Given the description of an element on the screen output the (x, y) to click on. 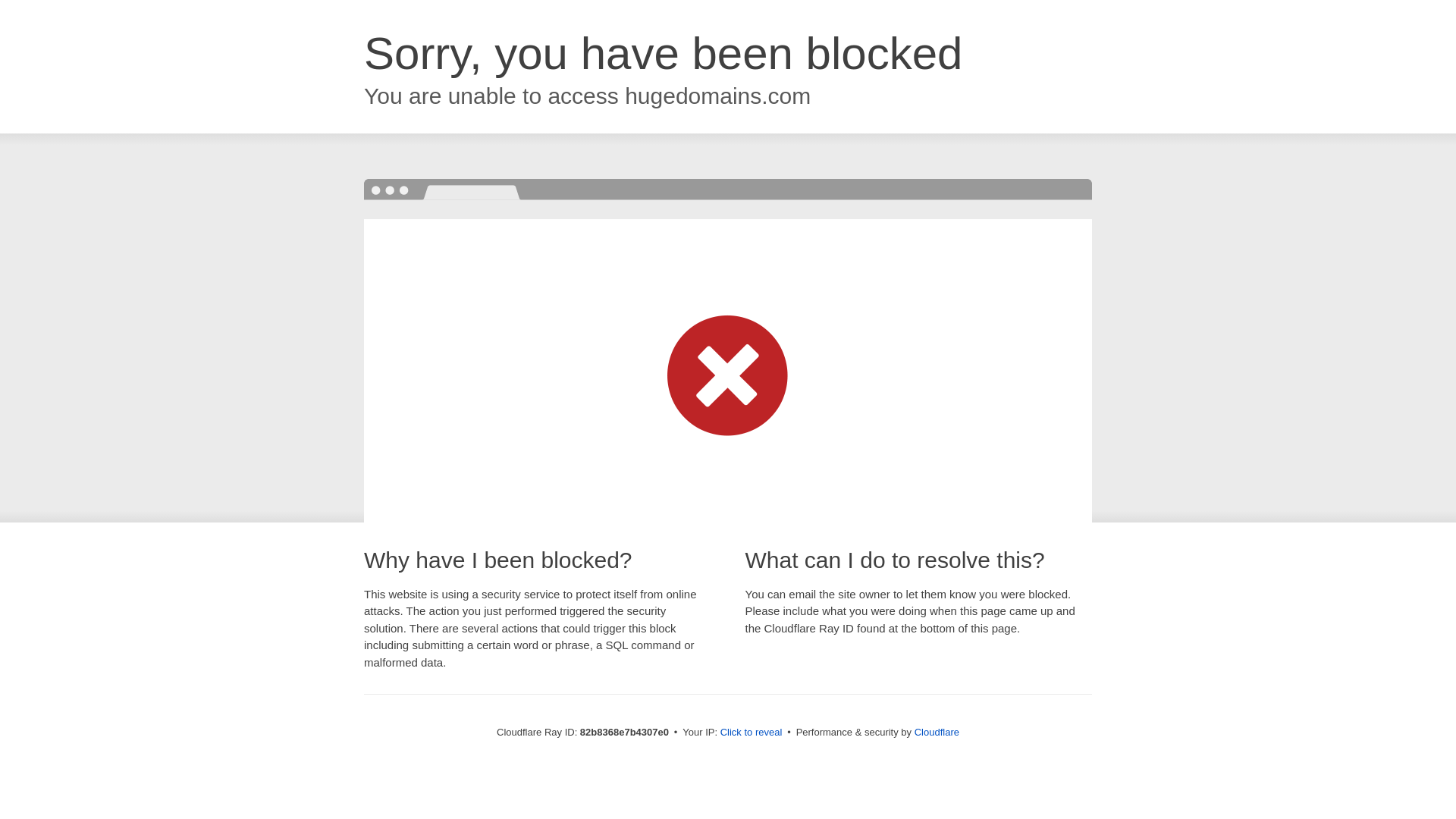
Cloudflare Element type: text (936, 731)
Click to reveal Element type: text (751, 732)
